Given the description of an element on the screen output the (x, y) to click on. 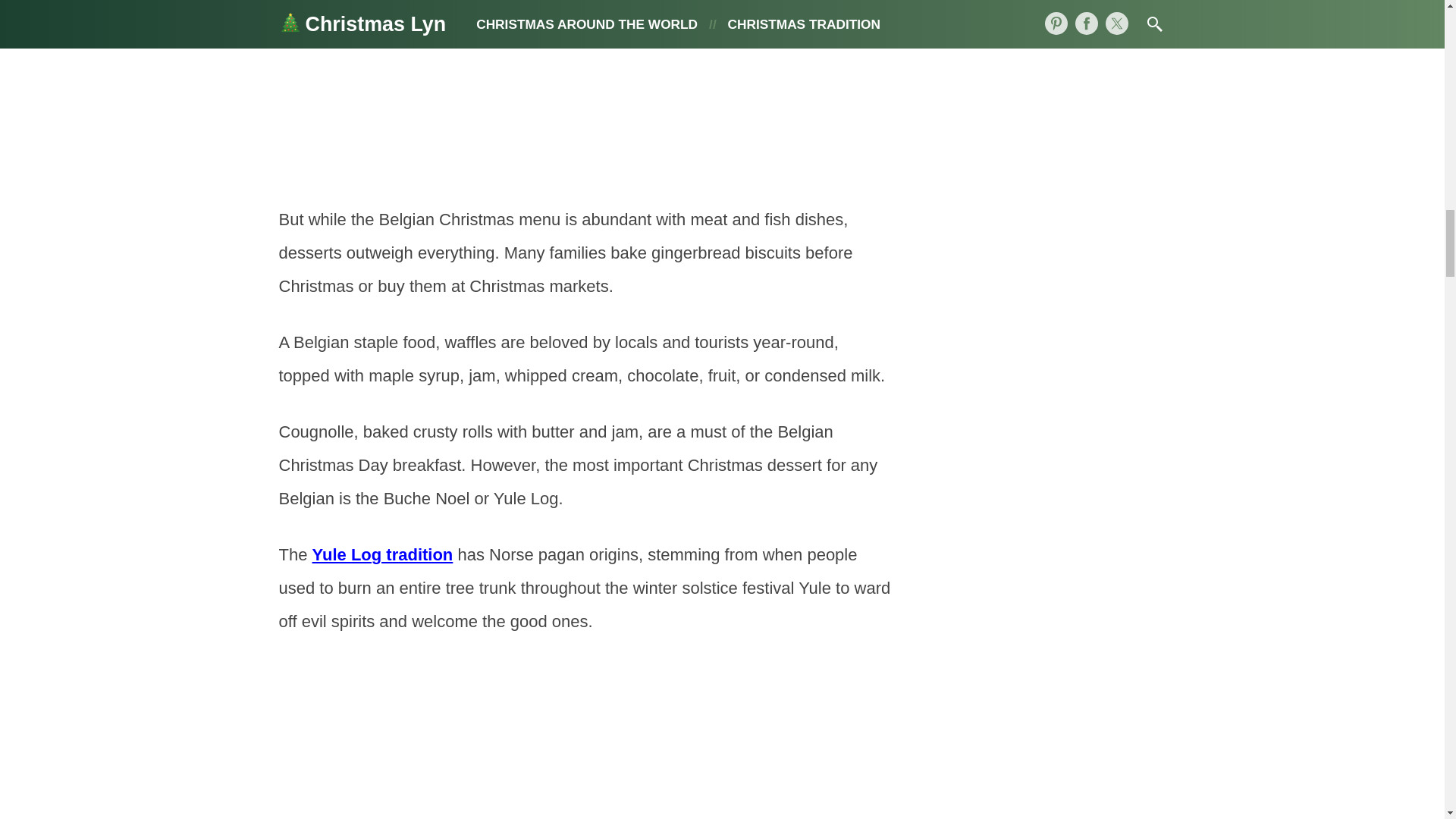
Advertisement (586, 739)
Advertisement (586, 90)
Yule Log tradition (382, 554)
